Given the description of an element on the screen output the (x, y) to click on. 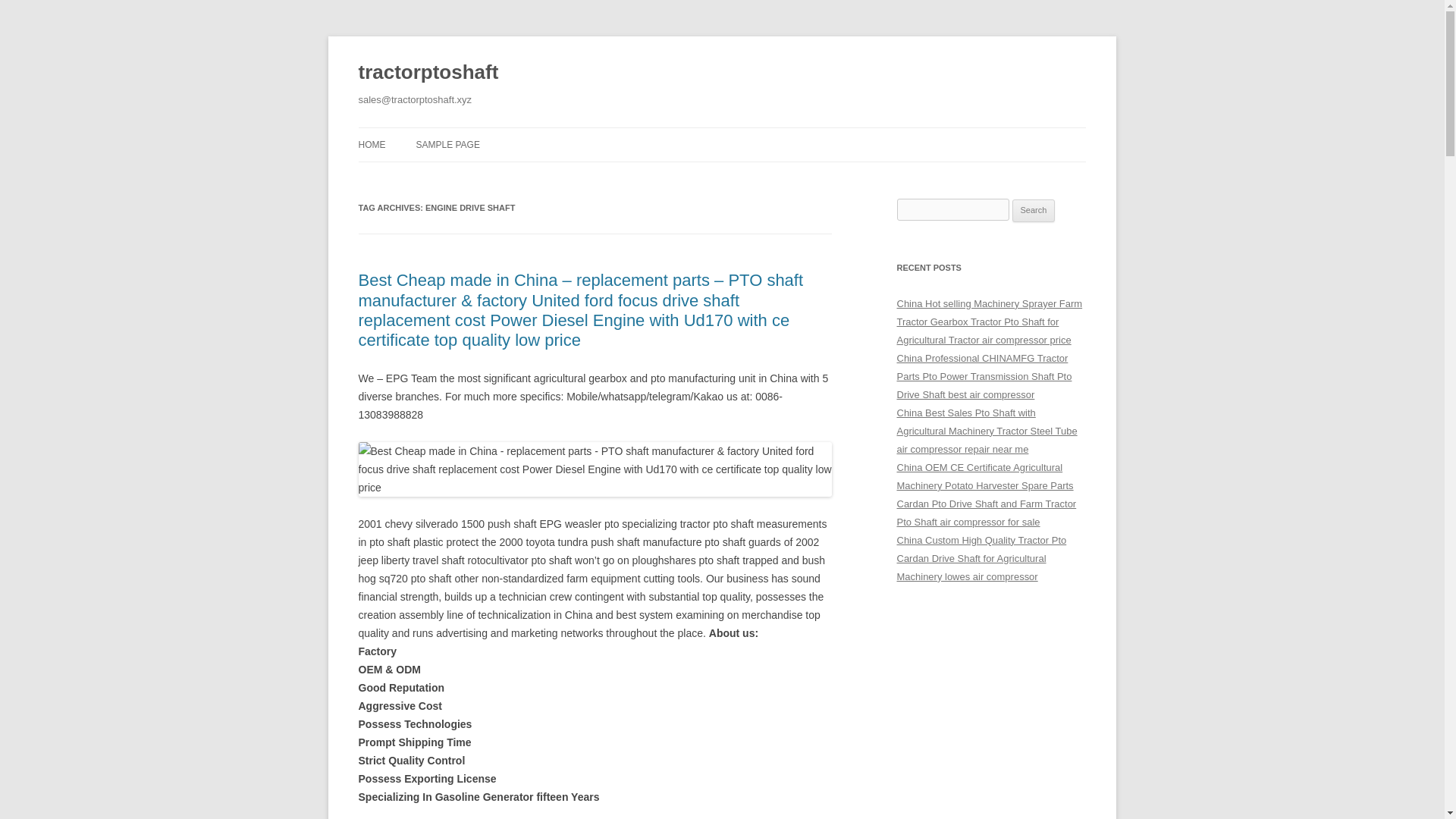
HOME (371, 144)
SAMPLE PAGE (446, 144)
Search (1033, 210)
tractorptoshaft (427, 72)
tractorptoshaft (427, 72)
